Given the description of an element on the screen output the (x, y) to click on. 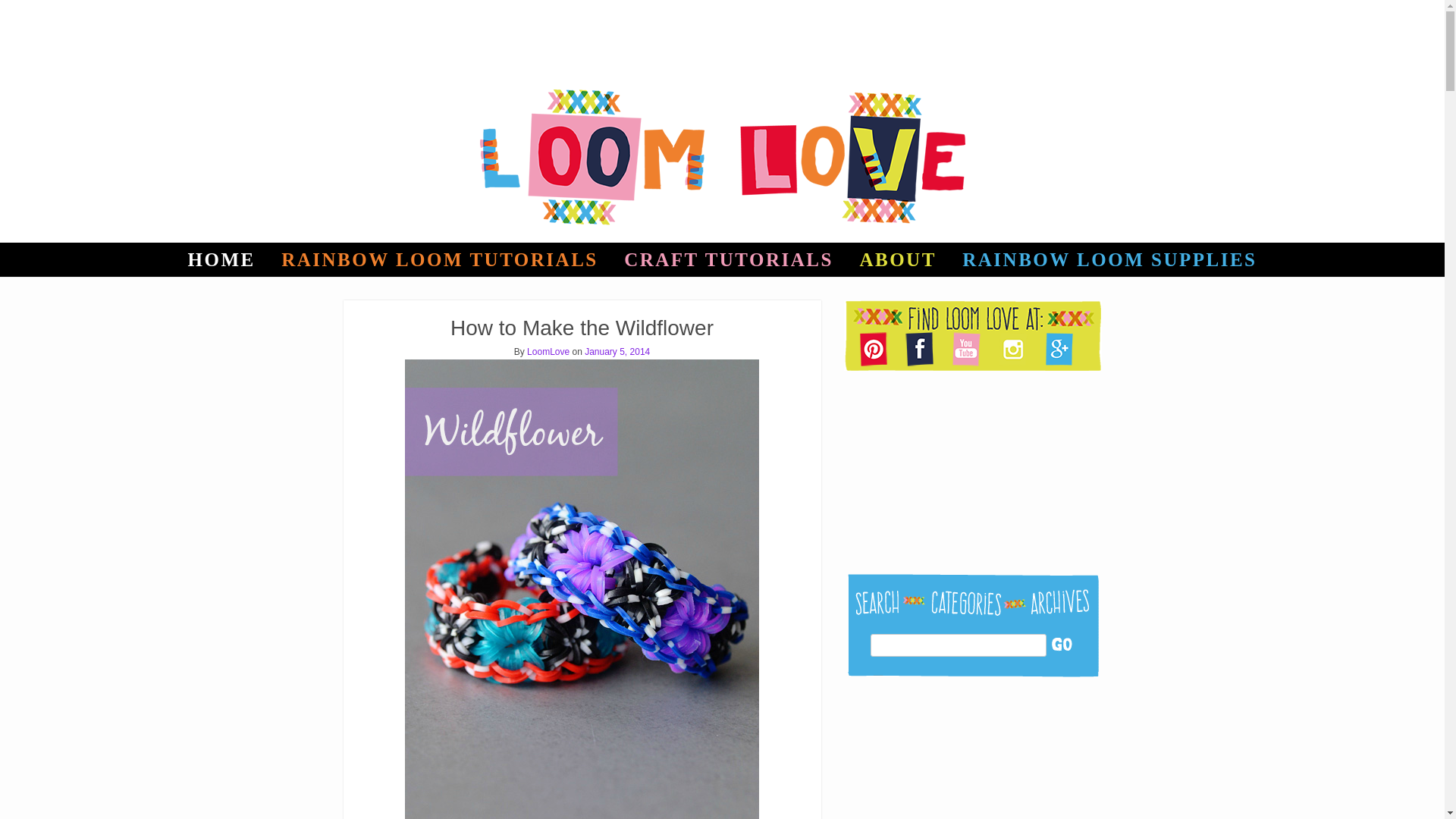
HOME (221, 259)
RAINBOW LOOM TUTORIALS (439, 259)
Skip to content (40, 253)
RAINBOW LOOM SUPPLIES (1109, 259)
Advertisement (970, 750)
Skip to content (40, 253)
View all posts by LoomLove (548, 351)
12:04 pm (617, 351)
CRAFT TUTORIALS (728, 259)
ABOUT (897, 259)
LoomLove (548, 351)
January 5, 2014 (617, 351)
